Given the description of an element on the screen output the (x, y) to click on. 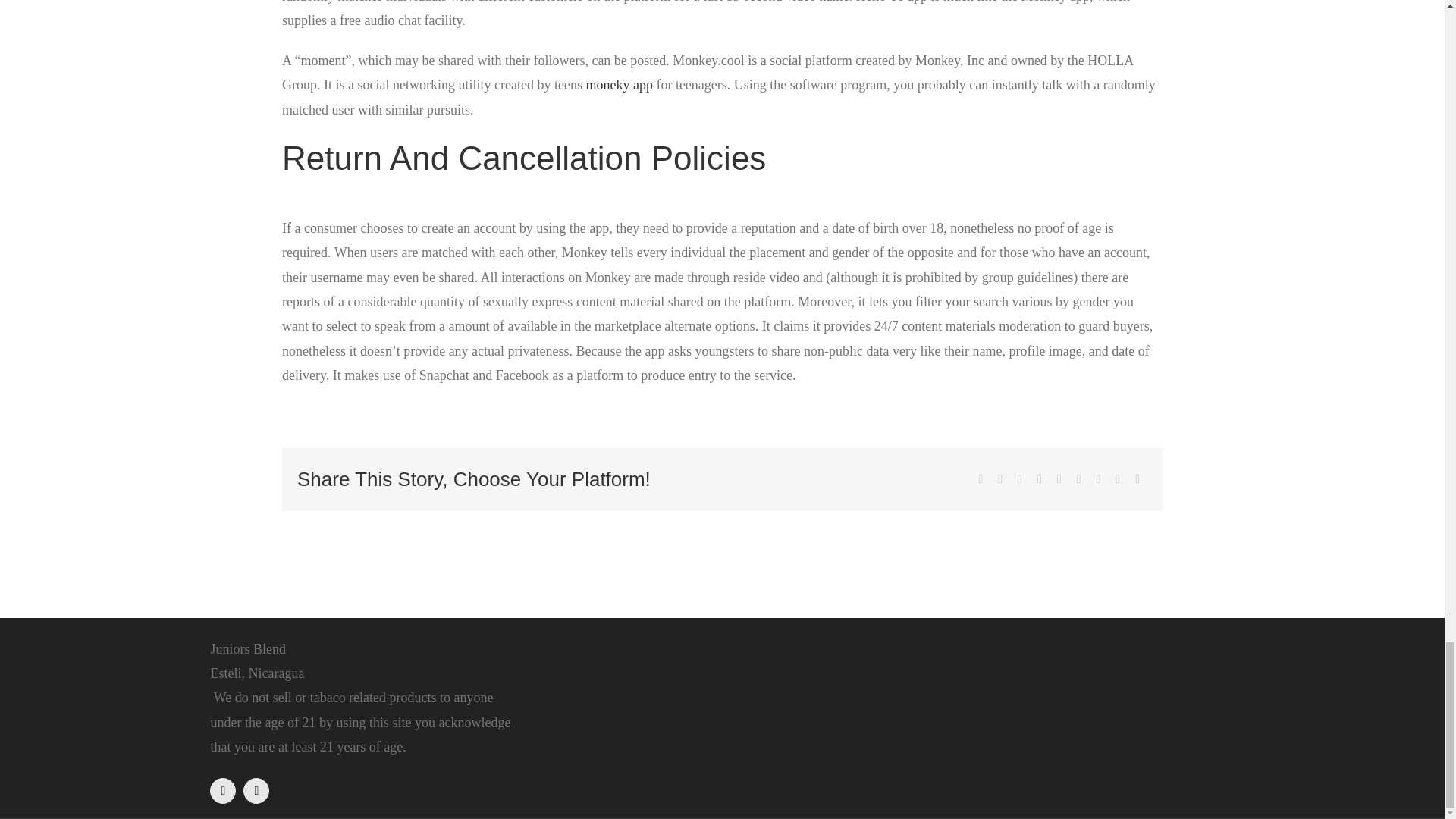
Instagram (256, 790)
Vk (1117, 479)
Facebook (980, 479)
Tumblr (1078, 479)
Facebook (222, 790)
Email (1136, 479)
Reddit (1019, 479)
Twitter (1000, 479)
Pinterest (1097, 479)
WhatsApp (1058, 479)
